Given the description of an element on the screen output the (x, y) to click on. 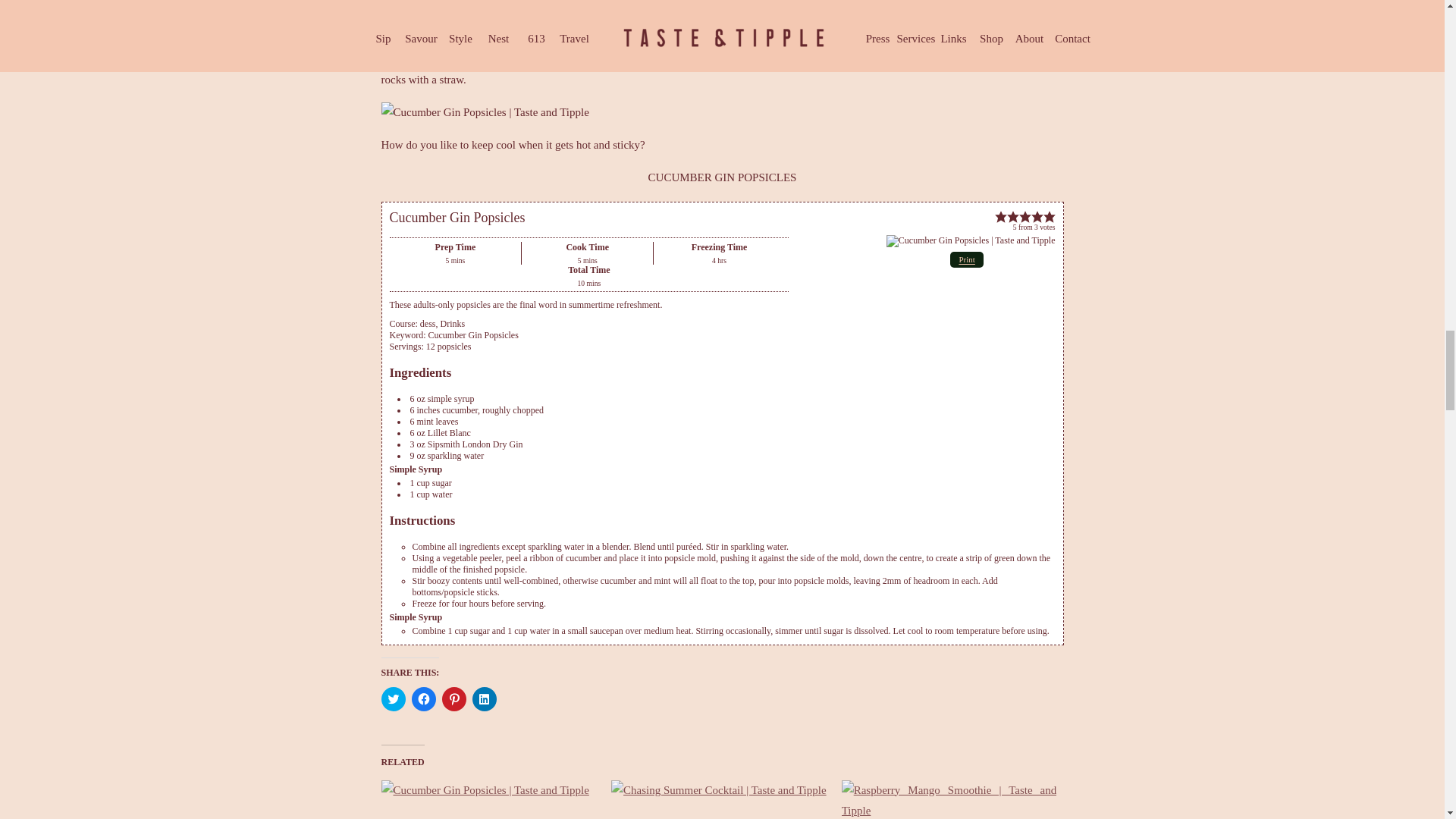
Click to share on Twitter (392, 699)
Click to share on Pinterest (453, 699)
Top 10 Recipes of 2019 (949, 799)
Click to share on Facebook (422, 699)
Upscale Frozen Cocktails (487, 799)
Print (966, 259)
Click to share on LinkedIn (483, 699)
Chasing Summer Cocktail (719, 799)
